Given the description of an element on the screen output the (x, y) to click on. 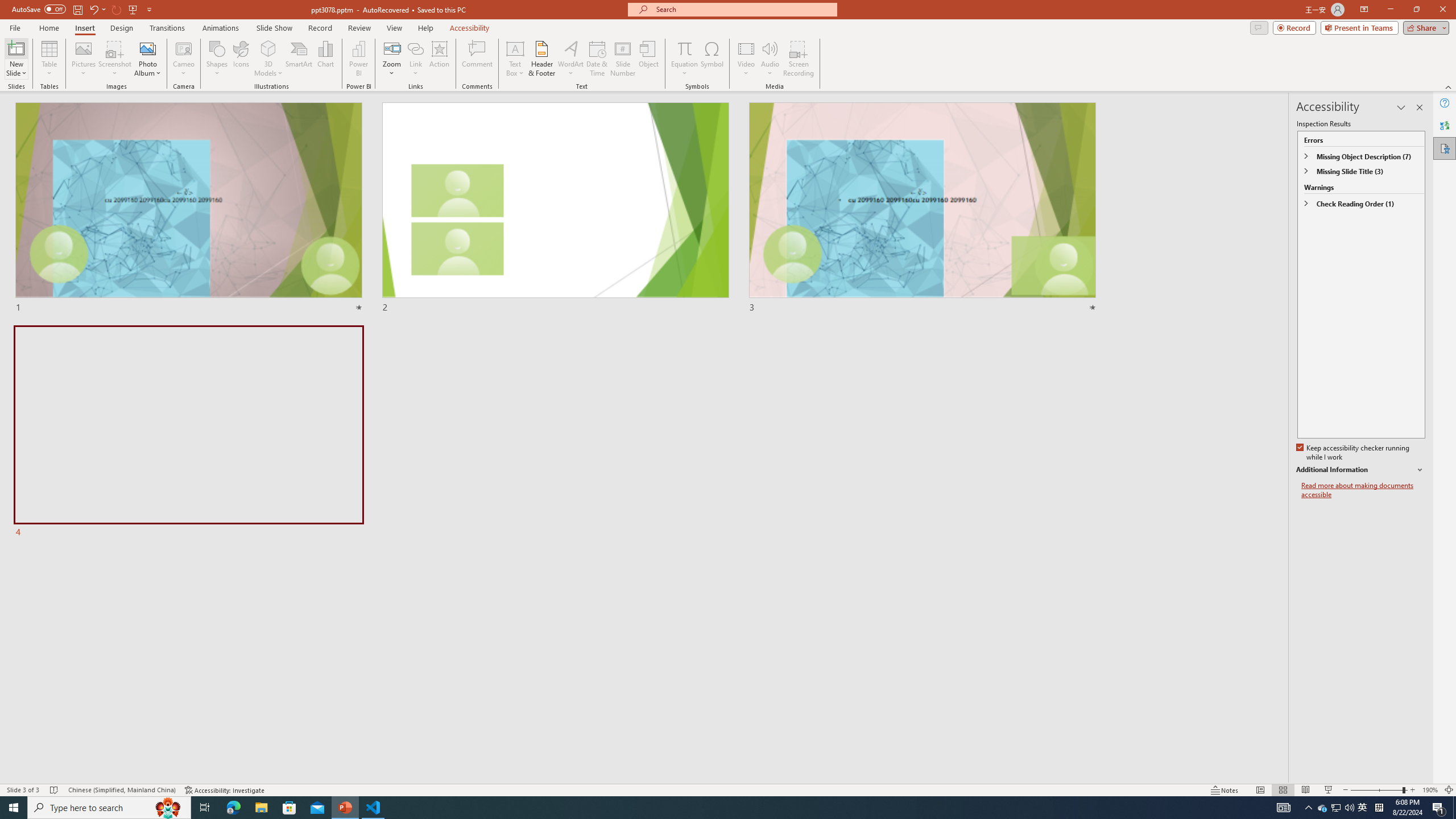
Photo Album... (147, 58)
Screenshot (114, 58)
Zoom 190% (1430, 790)
Chart... (325, 58)
Slide Number (622, 58)
